Given the description of an element on the screen output the (x, y) to click on. 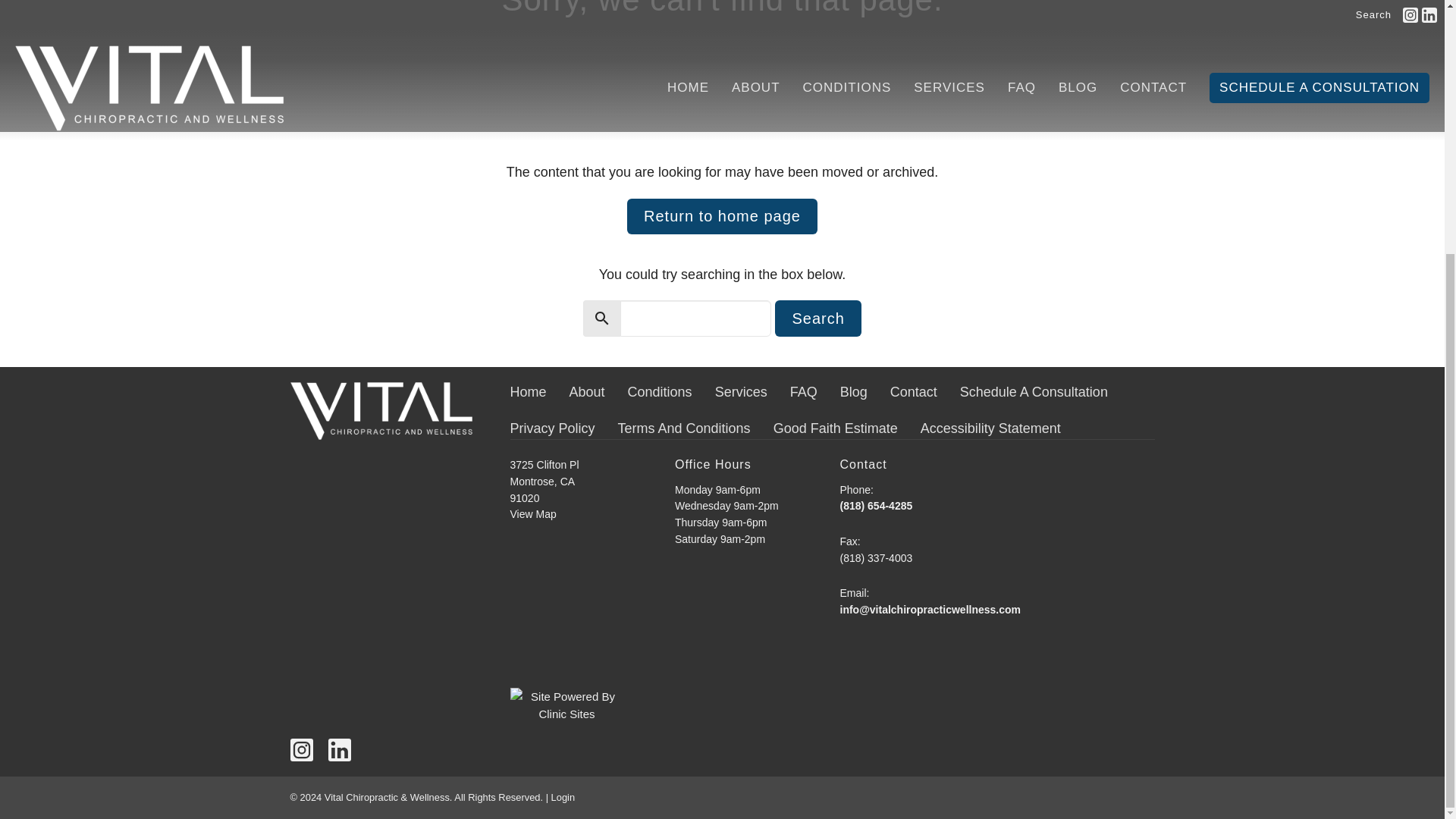
Schedule A Consultation (1033, 392)
Services (740, 392)
Home (527, 392)
Good Faith Estimate (835, 428)
Contact (913, 392)
Blog (853, 392)
Terms And Conditions (684, 428)
translation missing: en.ui.fax (848, 541)
FAQ (803, 392)
Login (563, 797)
